Given the description of an element on the screen output the (x, y) to click on. 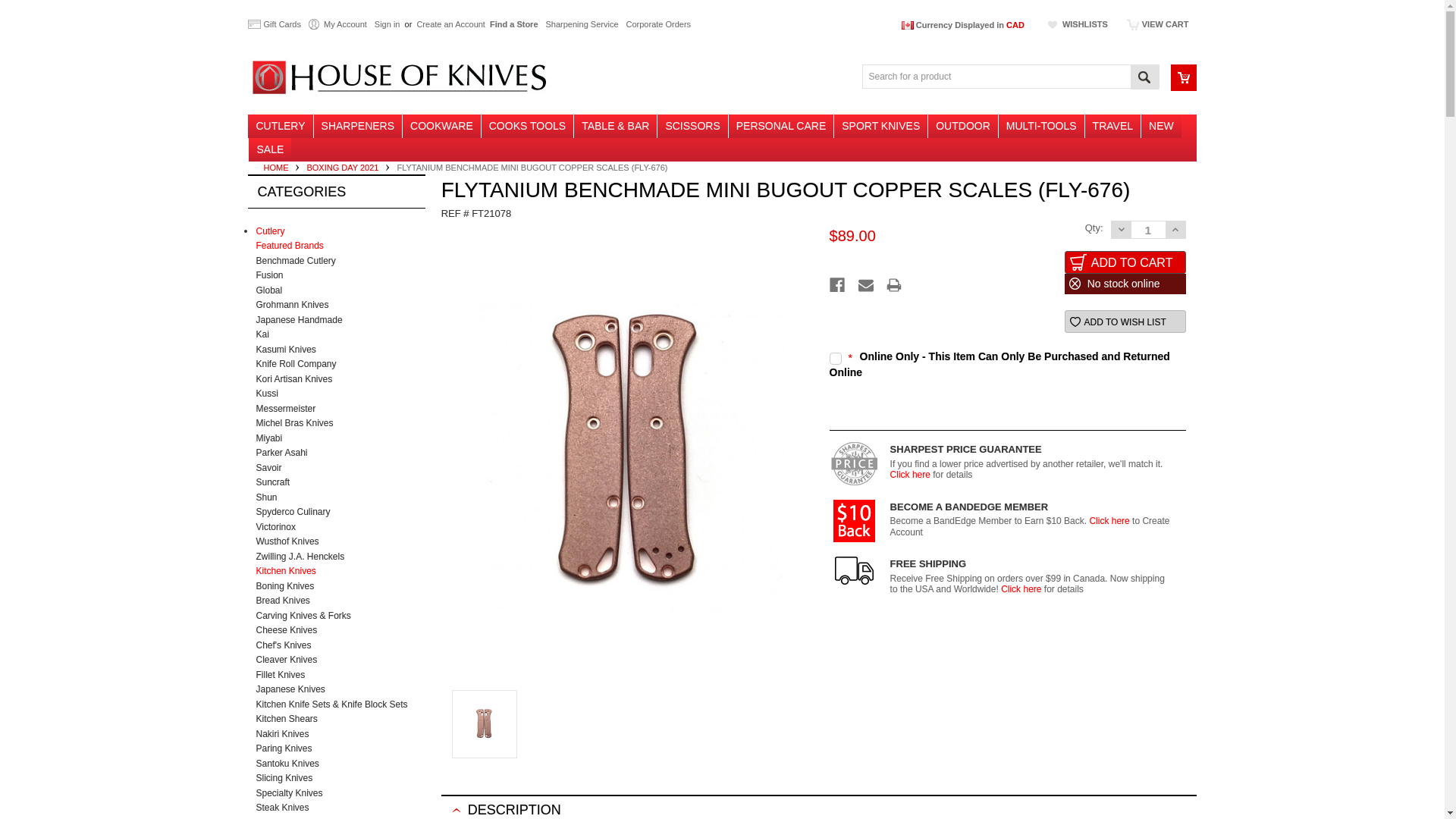
Add to Cart (1125, 261)
1 (1148, 229)
House of Knives (399, 77)
